Given the description of an element on the screen output the (x, y) to click on. 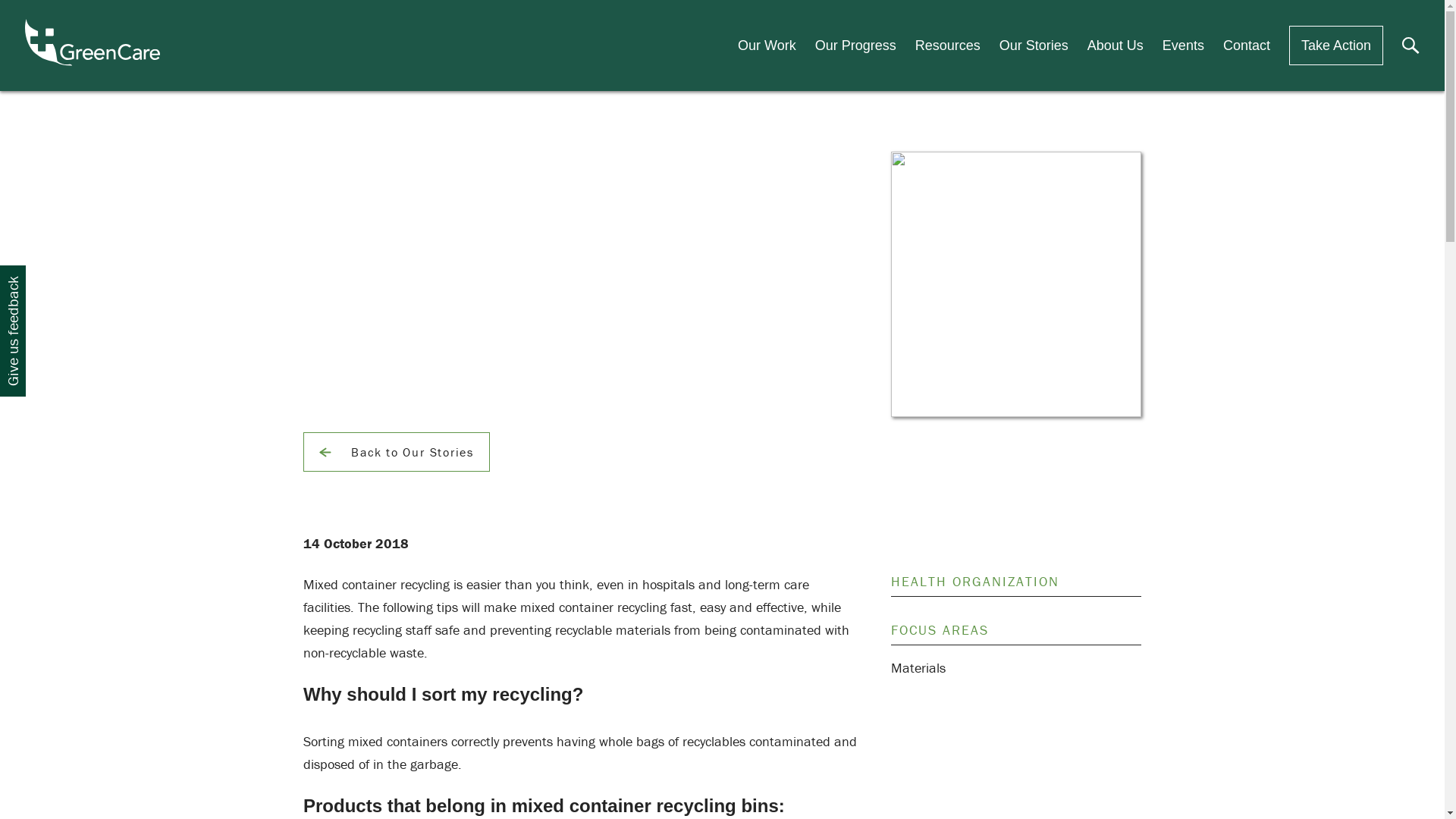
Submit Application Element type: text (686, 422)
Our Stories Element type: text (1033, 45)
Take Action Element type: text (1336, 45)
Contact Element type: text (1246, 45)
Resources Element type: text (947, 45)
  Element type: text (1176, 170)
Back to Our Stories Element type: text (396, 451)
Our Work Element type: text (766, 45)
Our Progress Element type: text (855, 45)
About Us Element type: text (1115, 45)
Events Element type: text (1183, 45)
